Given the description of an element on the screen output the (x, y) to click on. 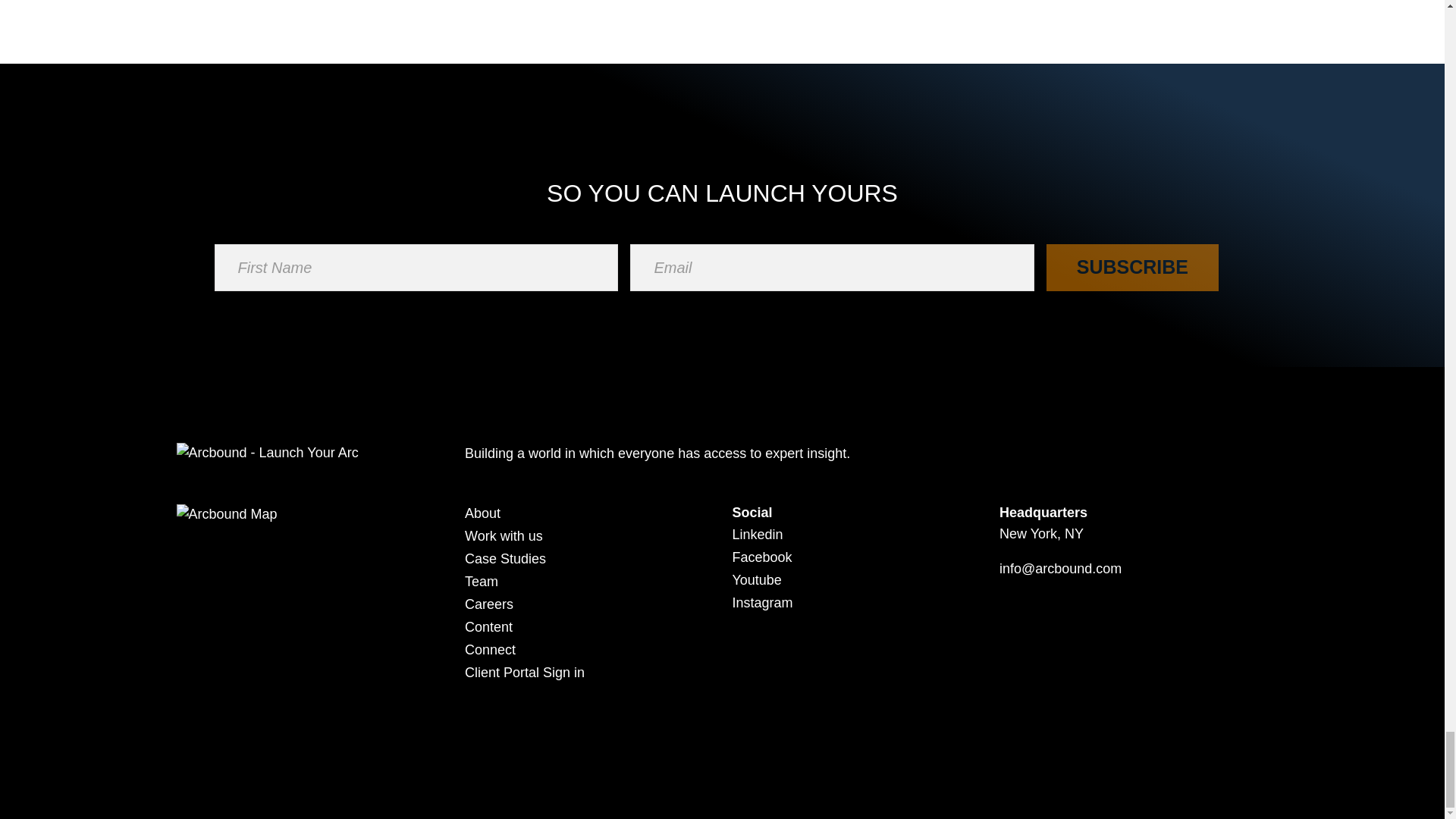
Subscribe (1131, 267)
